Given the description of an element on the screen output the (x, y) to click on. 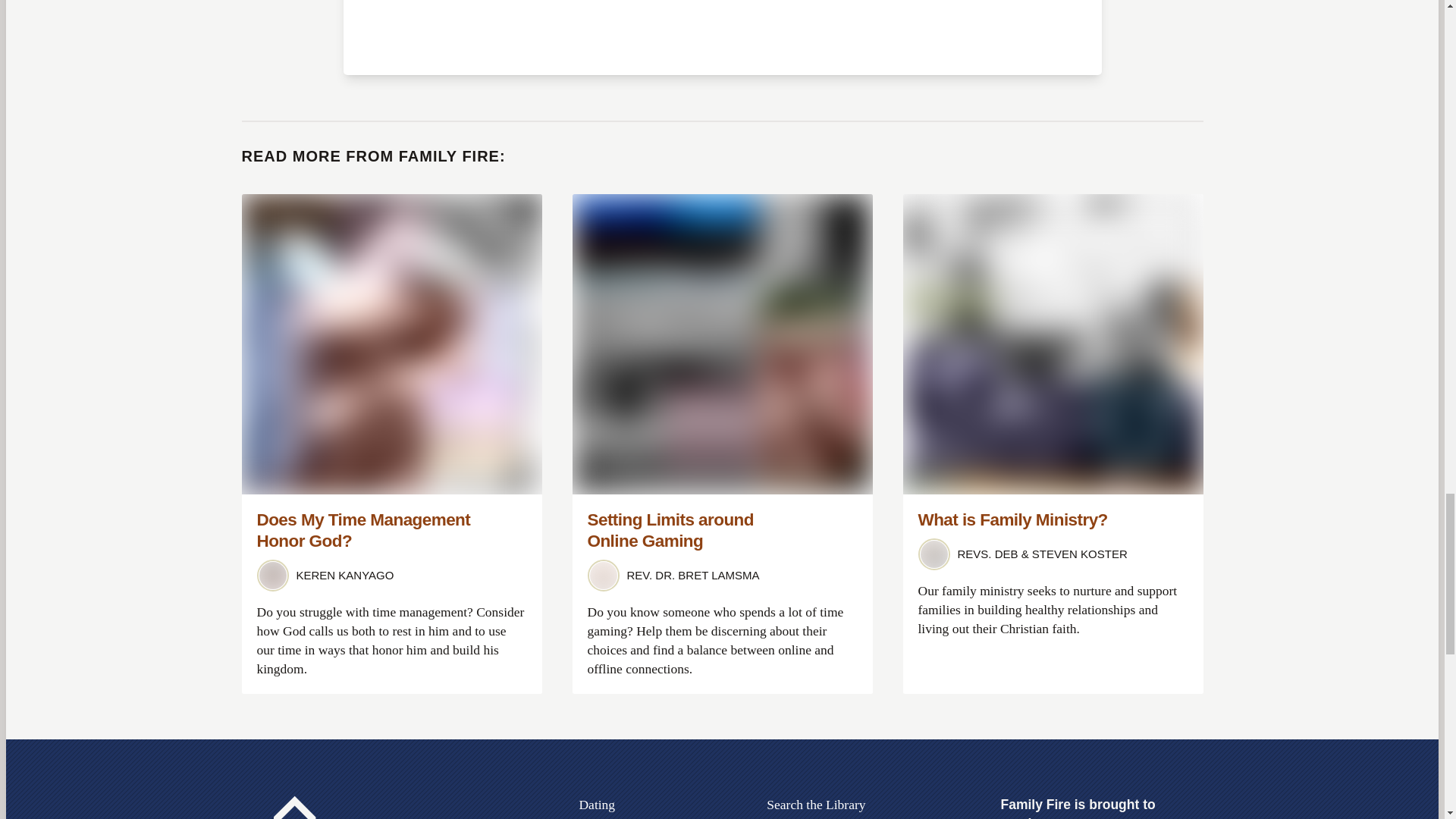
Family Fire (342, 807)
Stoking the Spirit's flame at home (342, 807)
Dating (596, 804)
Search the Library (815, 804)
